Given the description of an element on the screen output the (x, y) to click on. 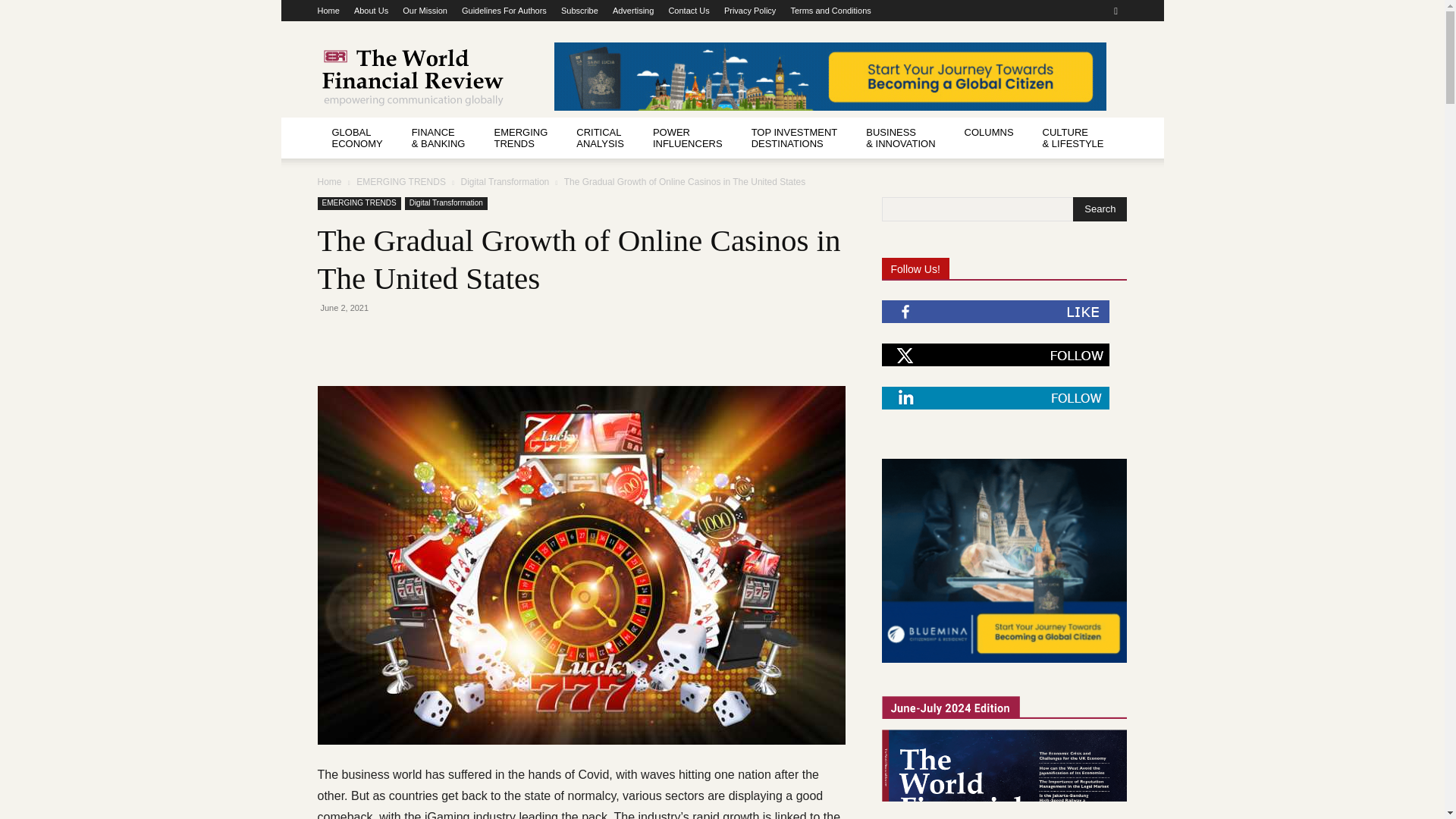
View all posts in EMERGING TRENDS (400, 181)
View all posts in Digital Transformation (505, 181)
Search (1099, 209)
